Given the description of an element on the screen output the (x, y) to click on. 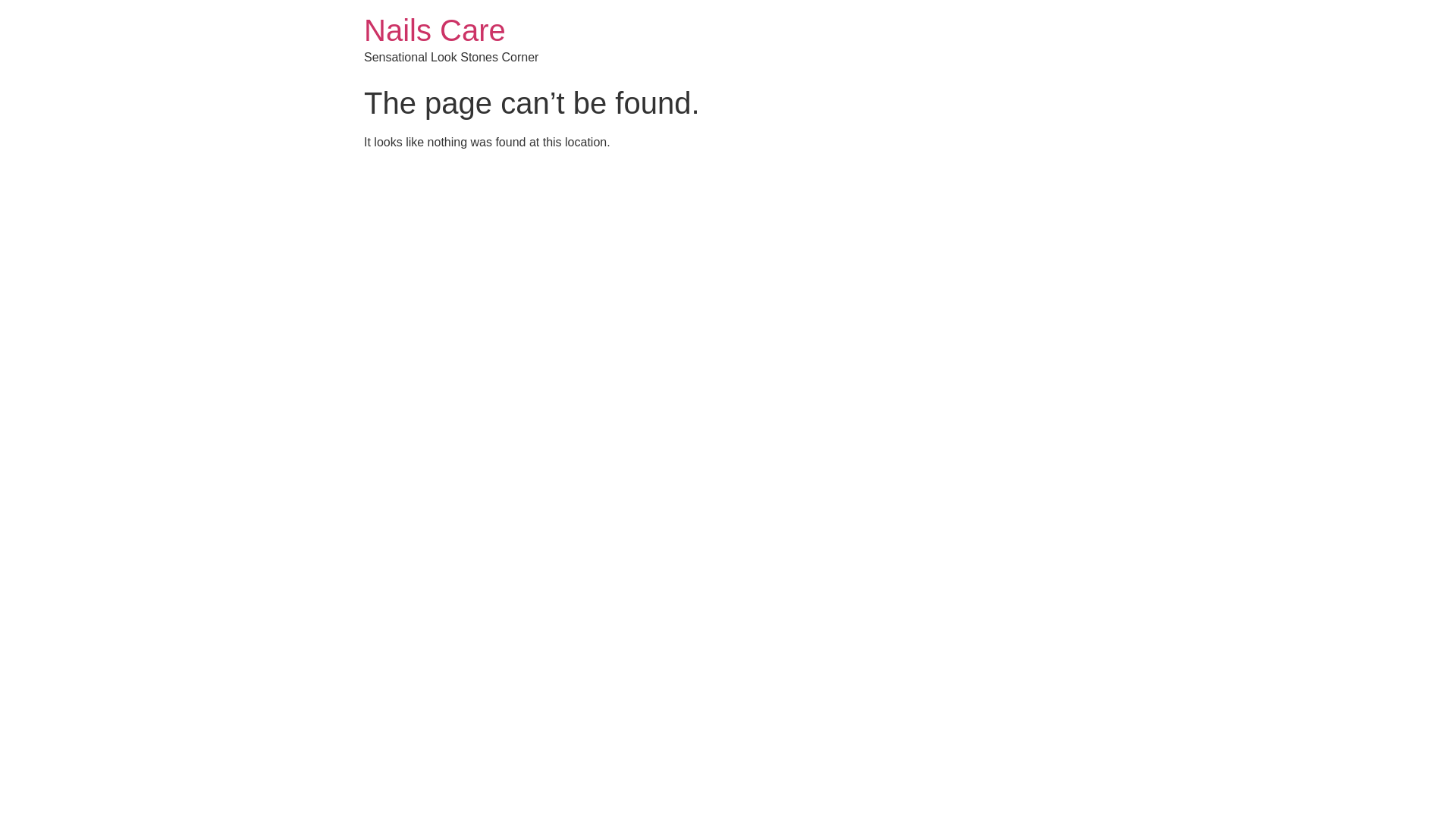
Nails Care Element type: text (434, 30)
